Given the description of an element on the screen output the (x, y) to click on. 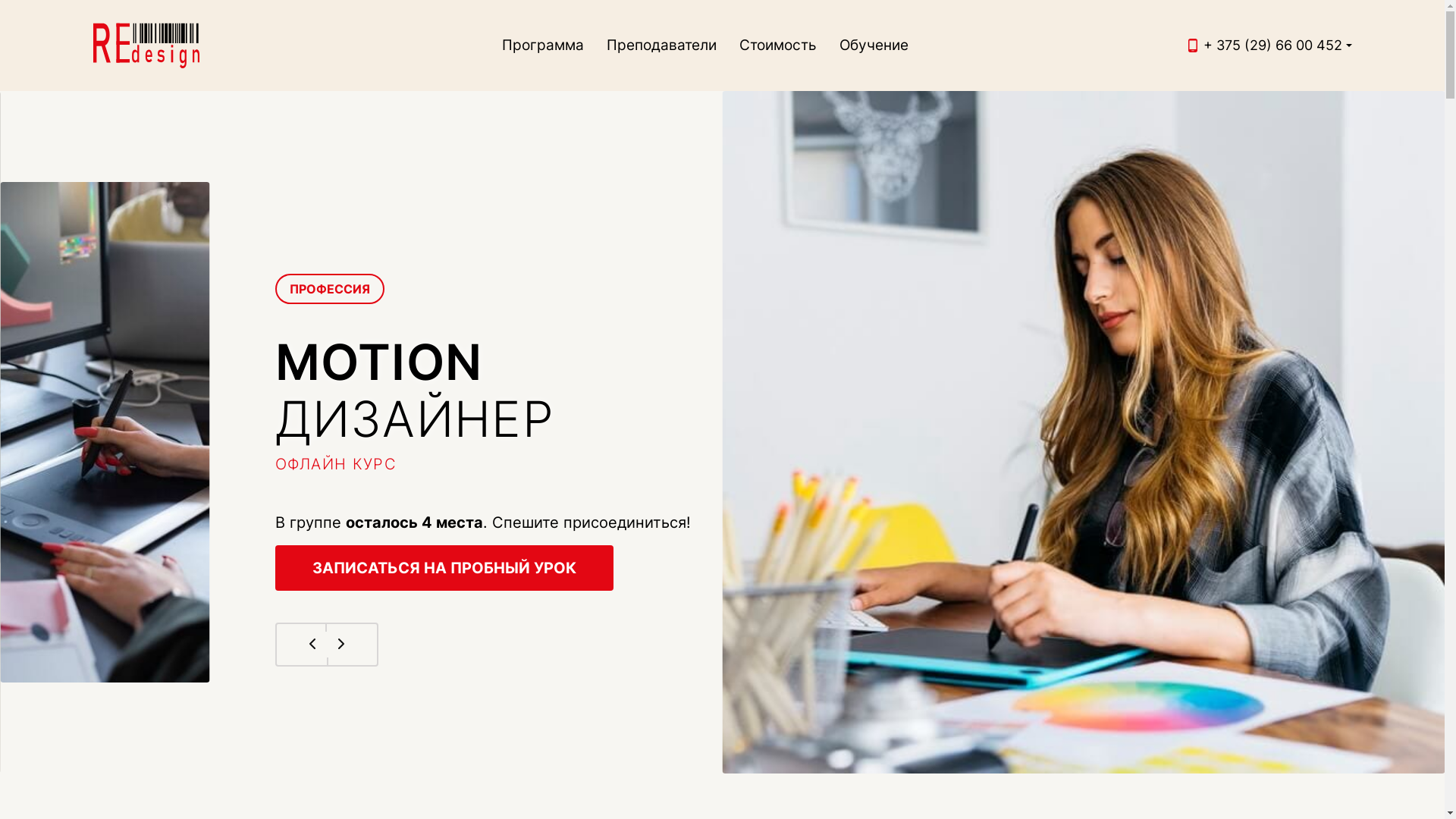
+ 375 (29) 66 00 452 Element type: text (1271, 45)
